Given the description of an element on the screen output the (x, y) to click on. 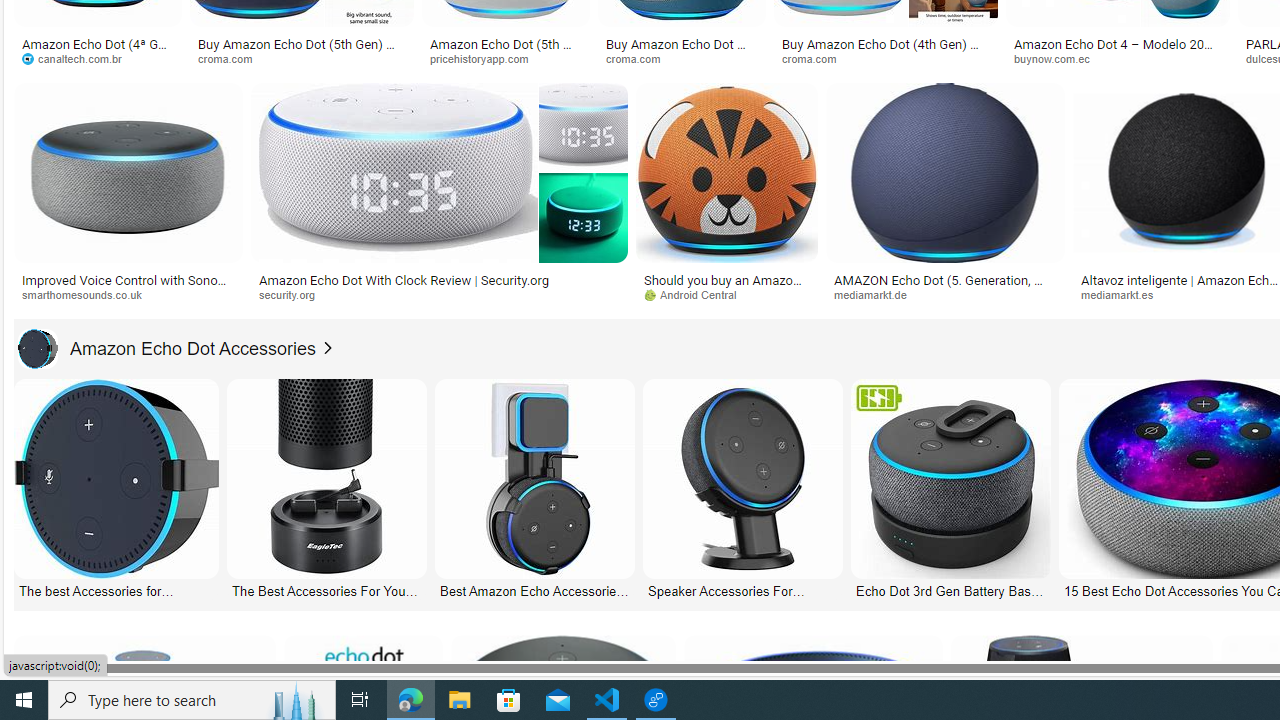
mediamarkt.de (877, 294)
Image result for Amazon Echo Dot PNG (944, 172)
Android Central (697, 294)
pricehistoryapp.com (506, 58)
Amazon Echo Dot Accessories (37, 348)
buynow.com.ec (1058, 57)
